Given the description of an element on the screen output the (x, y) to click on. 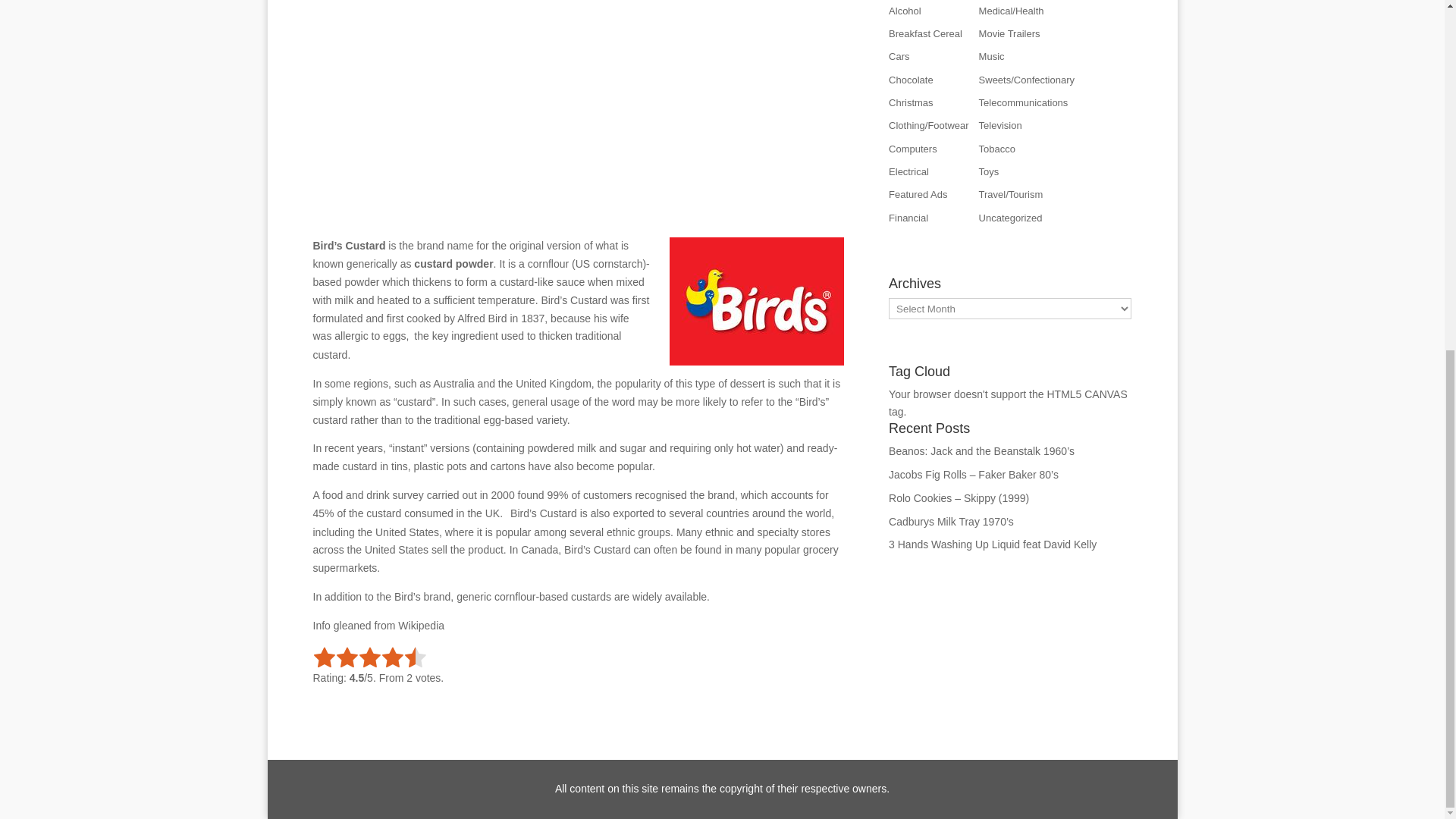
Cars (898, 56)
YouTube video player (578, 113)
Breakfast Cereal (925, 33)
Christmas (910, 102)
Movie Trailers (1009, 33)
Music (991, 56)
Financial (908, 217)
Alcohol (904, 10)
Electrical (908, 171)
Featured Ads (917, 194)
Television (1000, 125)
Computers (912, 148)
Some tv adverts of electrical items being sold in the 80's (908, 171)
Telecommunications (1023, 102)
